Given the description of an element on the screen output the (x, y) to click on. 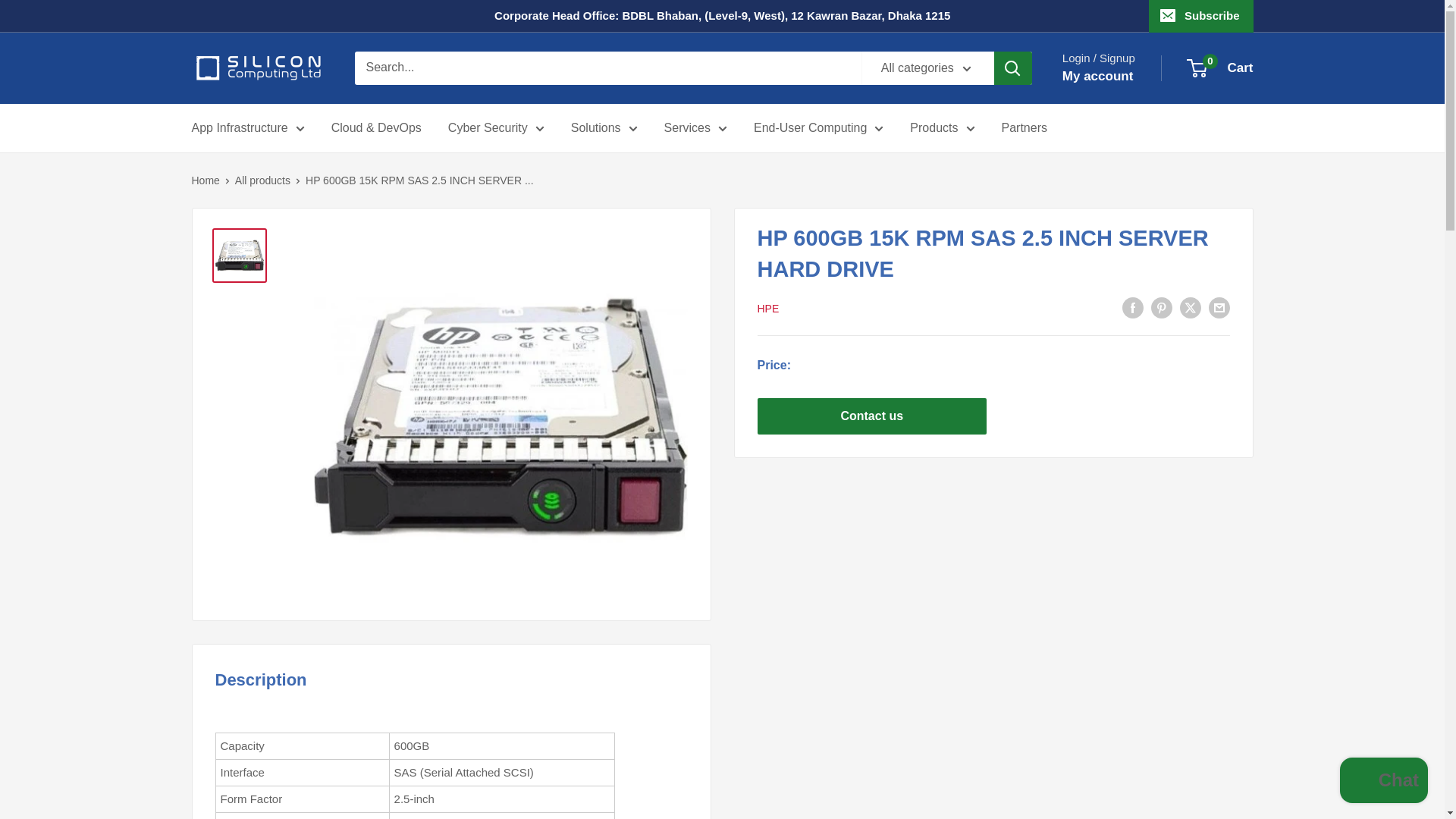
Subscribe (1200, 15)
Shopify online store chat (1383, 781)
